Given the description of an element on the screen output the (x, y) to click on. 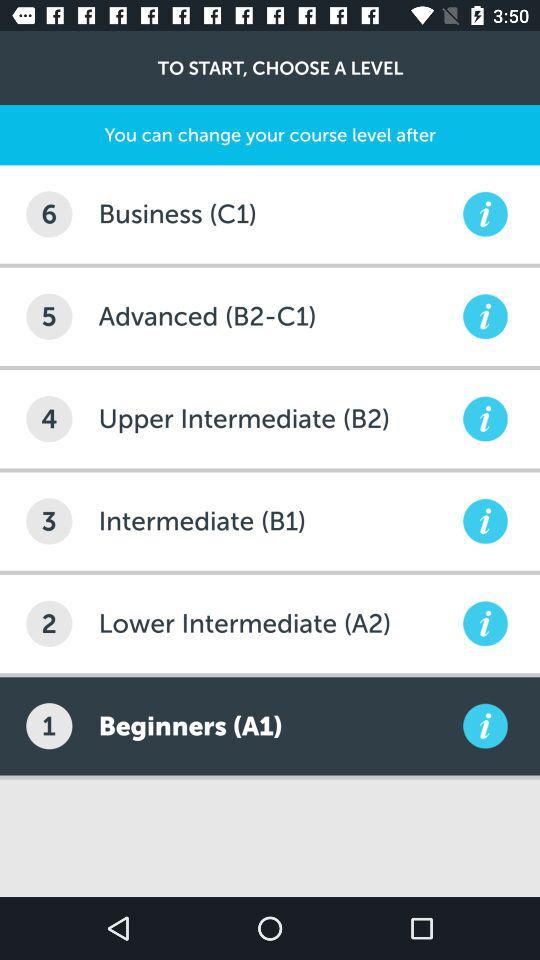
open the 1 (49, 726)
